Given the description of an element on the screen output the (x, y) to click on. 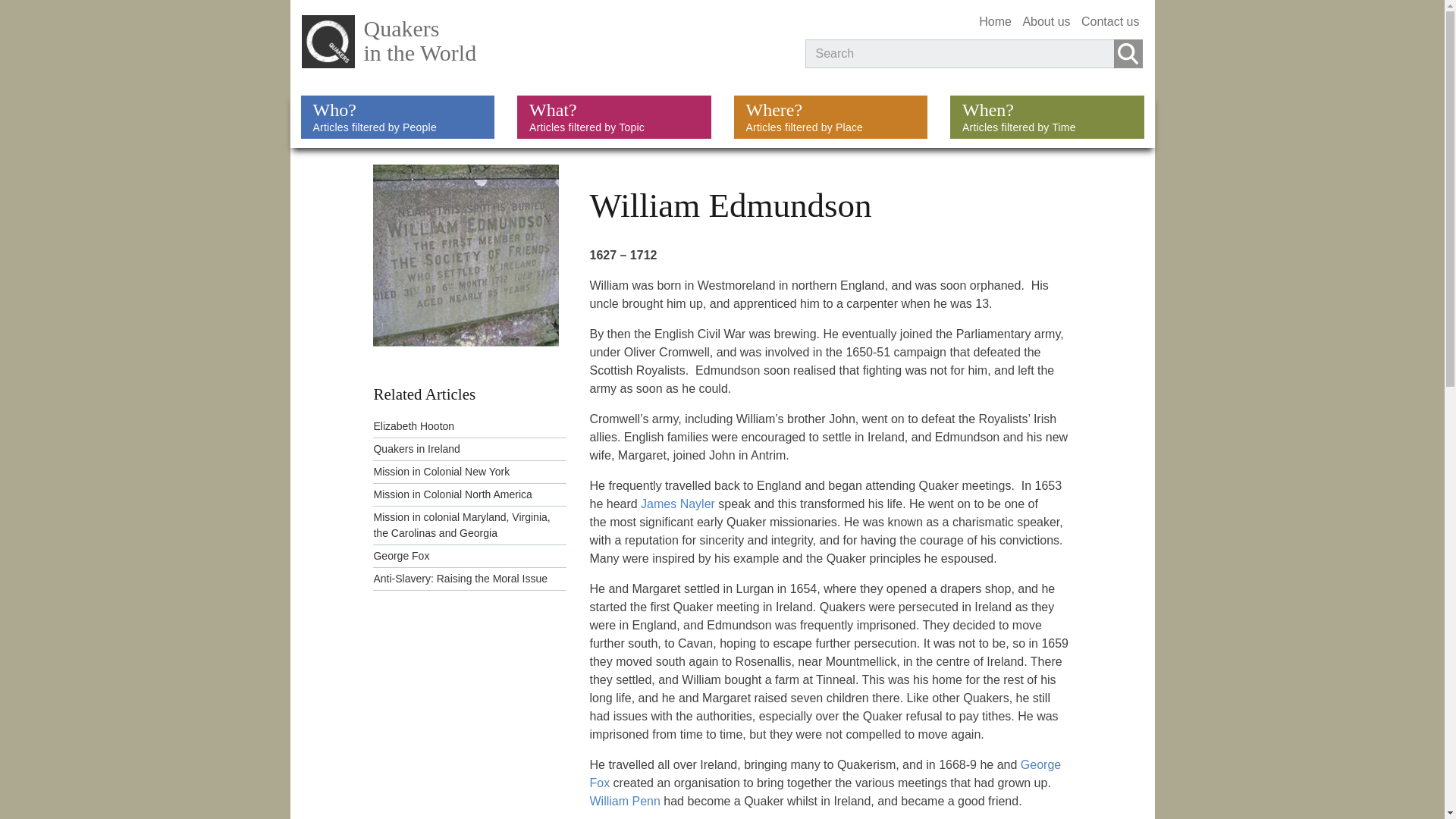
About us (1046, 21)
Home (542, 45)
Contact us (1047, 116)
